Given the description of an element on the screen output the (x, y) to click on. 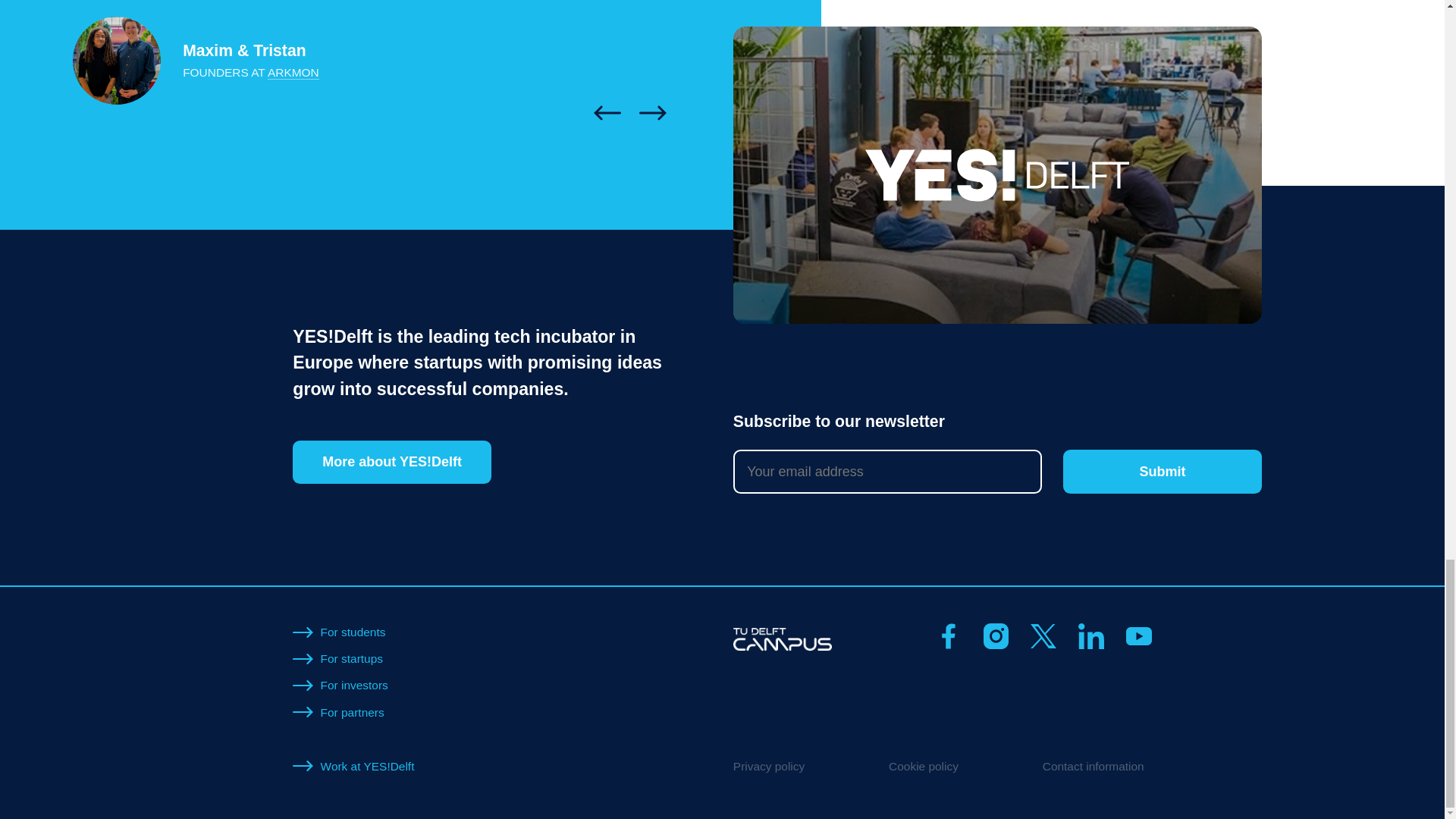
Work at YES!Delft (367, 766)
X (1043, 636)
YouTube (1138, 636)
More about YES!Delft (392, 462)
Cookie policy (923, 766)
LinkedIn (1090, 636)
For students (352, 631)
Contact information (1093, 766)
ARKMON (292, 72)
For investors (354, 684)
